Given the description of an element on the screen output the (x, y) to click on. 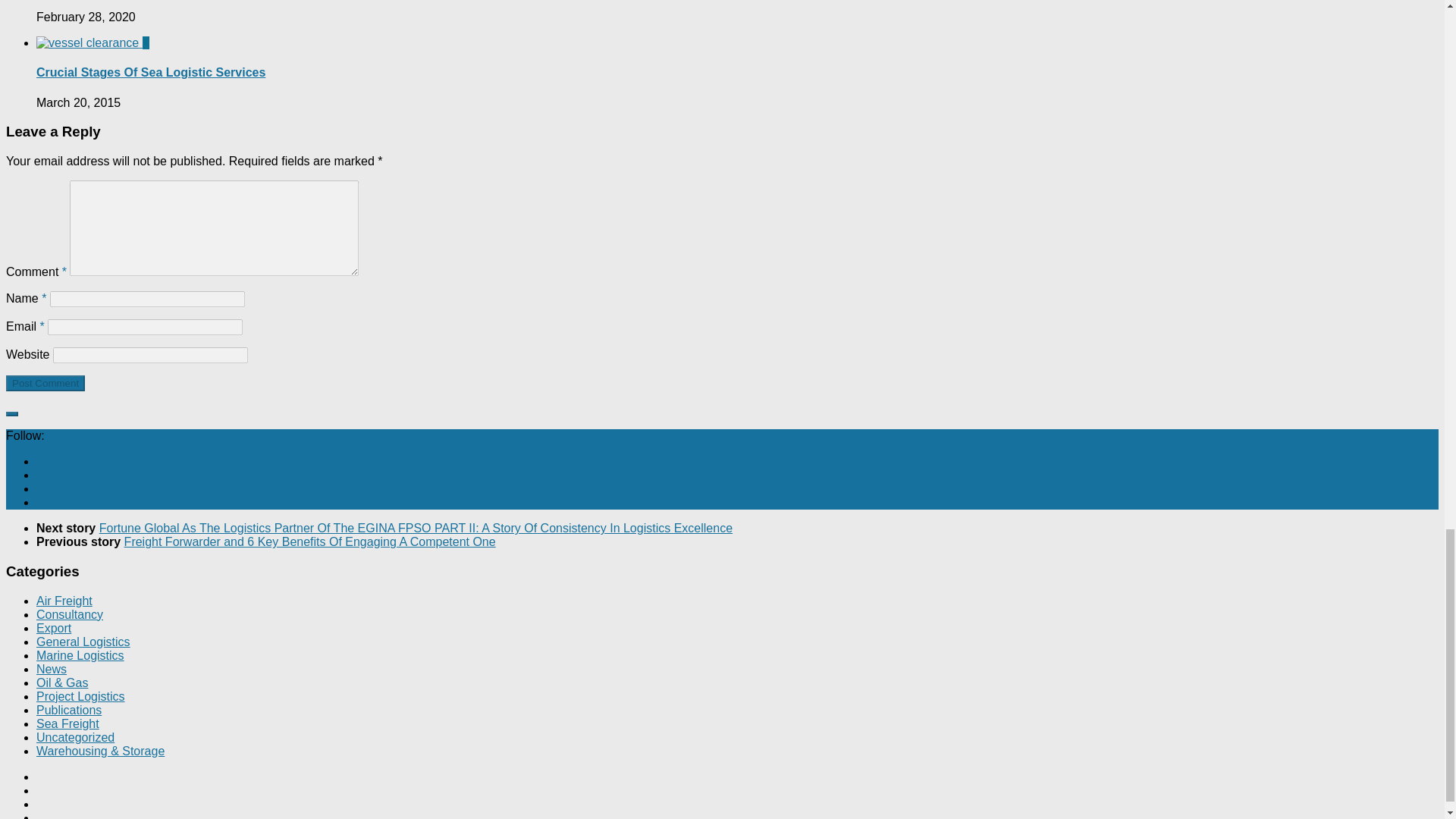
Post Comment (44, 383)
Expand Sidebar (11, 413)
